Given the description of an element on the screen output the (x, y) to click on. 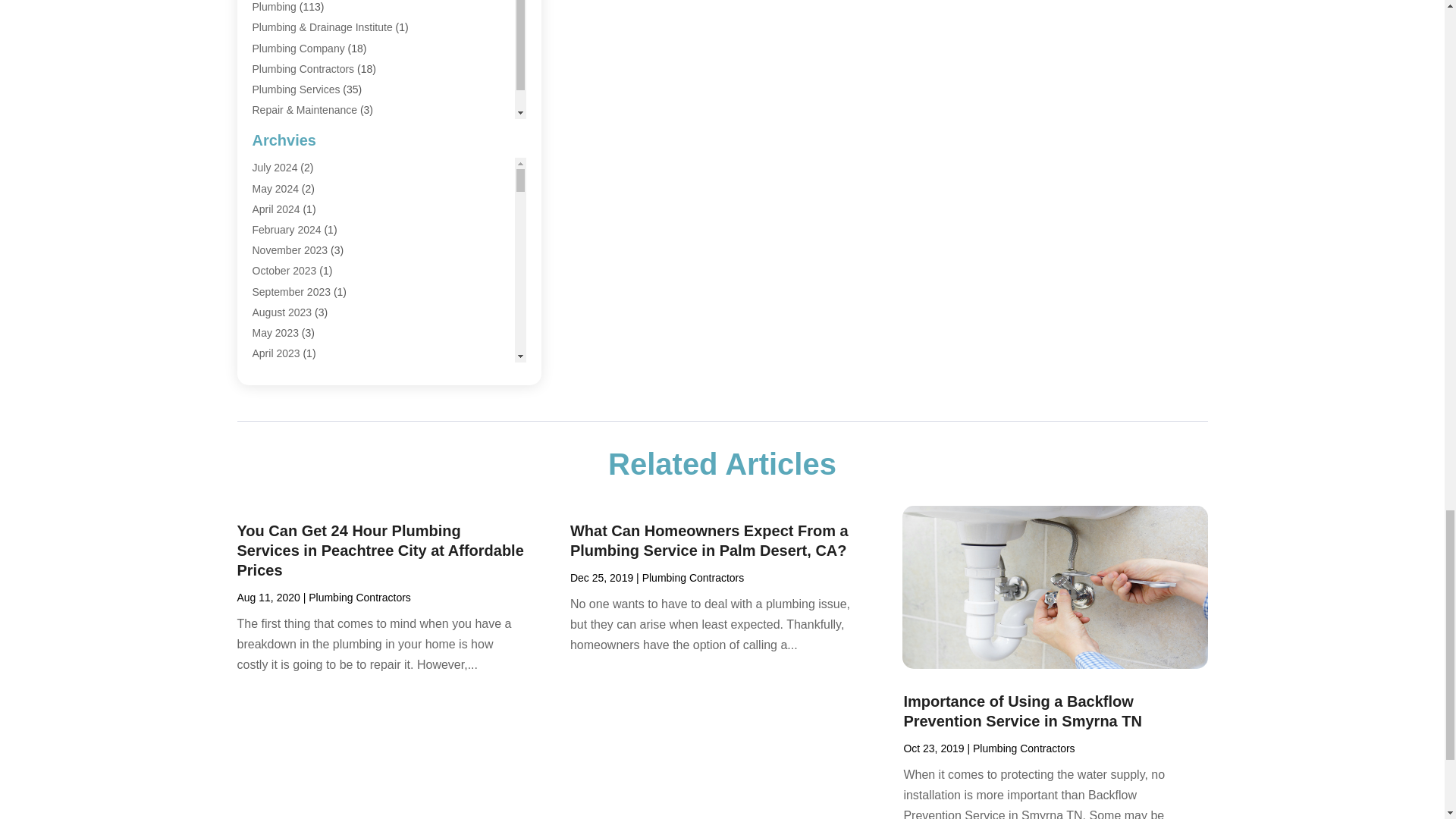
Water Heaters (285, 130)
Plumbing Contractors (302, 69)
Plumbing (273, 6)
Plumbing Services (295, 89)
July 2024 (274, 167)
Plumbing Company (297, 48)
